Given the description of an element on the screen output the (x, y) to click on. 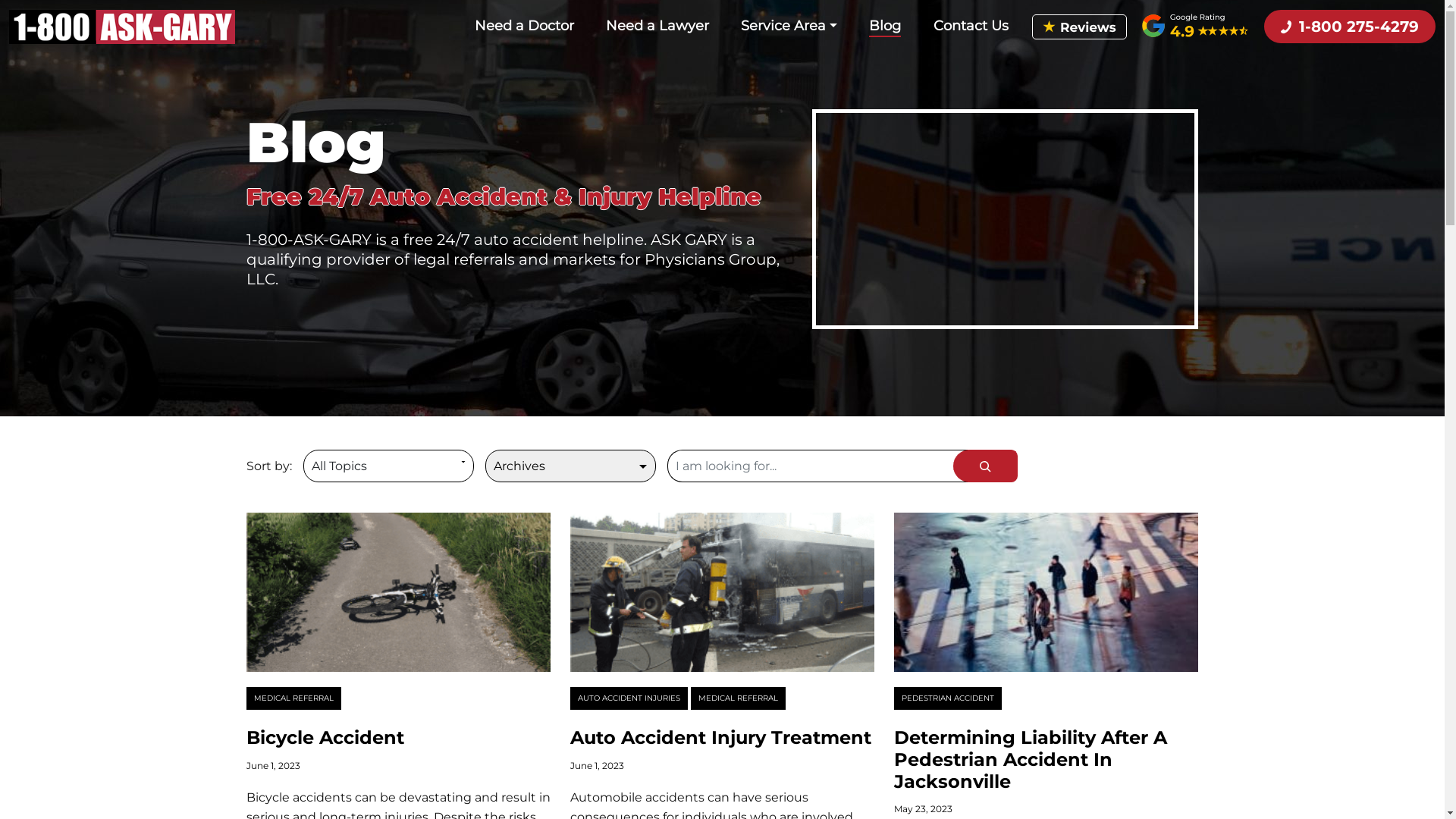
PEDESTRIAN ACCIDENT Element type: text (947, 698)
Service Area Element type: text (788, 25)
1-800 275-4279 Element type: text (1349, 26)
MEDICAL REFERRAL Element type: text (292, 698)
June 1, 2023 Element type: text (272, 765)
June 1, 2023 Element type: text (597, 765)
Auto Accident Injury Treatment Element type: text (720, 737)
Bicycle Accident Element type: text (324, 737)
Blog Element type: text (884, 26)
Contact Us Element type: text (970, 25)
MEDICAL REFERRAL Element type: text (737, 698)
May 23, 2023 Element type: text (923, 808)
Need a Lawyer Element type: text (657, 25)
AUTO ACCIDENT INJURIES Element type: text (628, 698)
YouTube video player Element type: hover (1004, 219)
Need a Doctor Element type: text (524, 25)
